Given the description of an element on the screen output the (x, y) to click on. 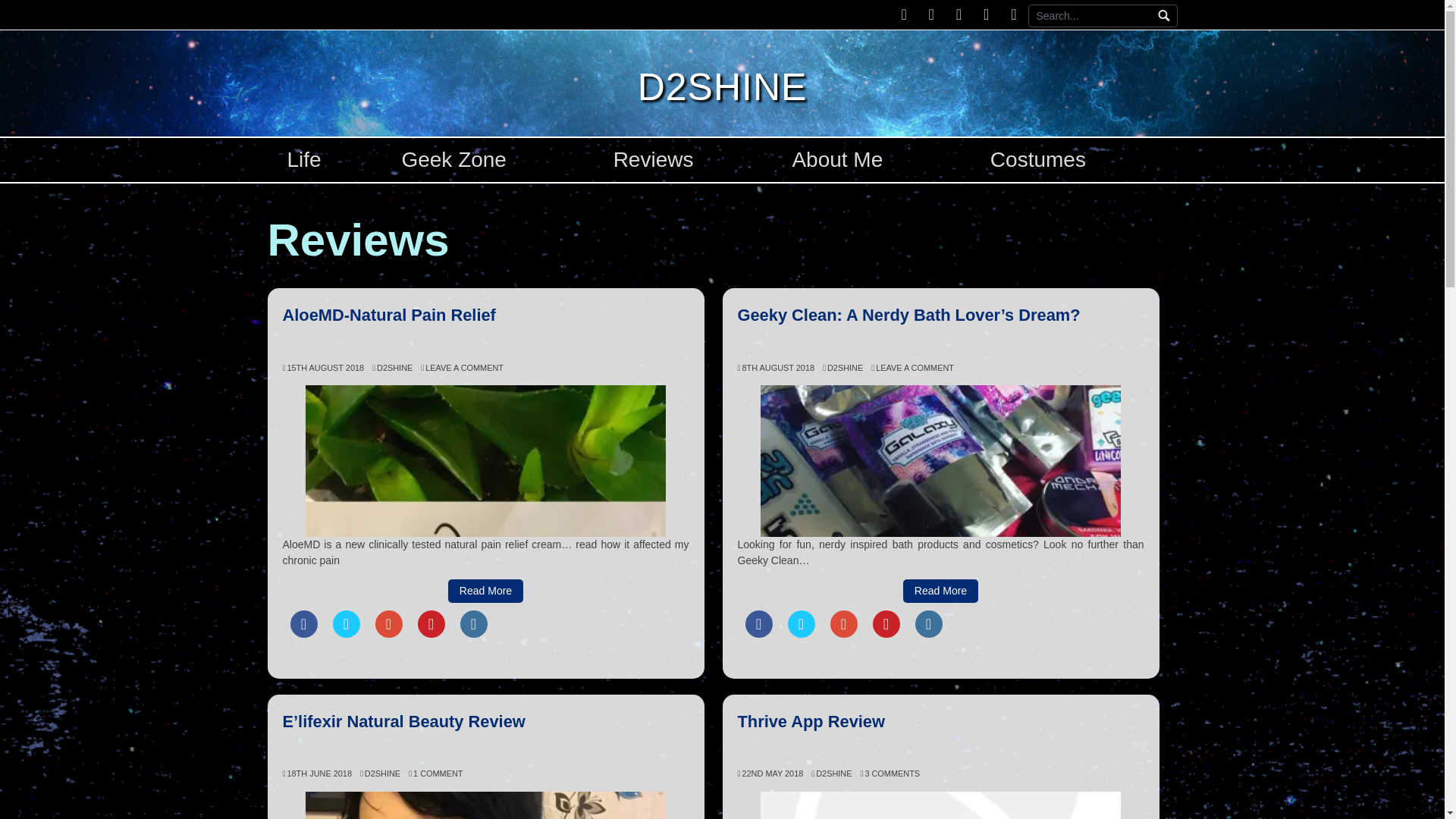
18TH JUNE 2018 (316, 773)
Reviews (653, 160)
LEAVE A COMMENT (911, 367)
D2SHINE (379, 773)
Life (303, 160)
About Me (836, 160)
Costumes (1037, 160)
LEAVE A COMMENT (461, 367)
D2SHINE (842, 367)
Read More (940, 590)
